Given the description of an element on the screen output the (x, y) to click on. 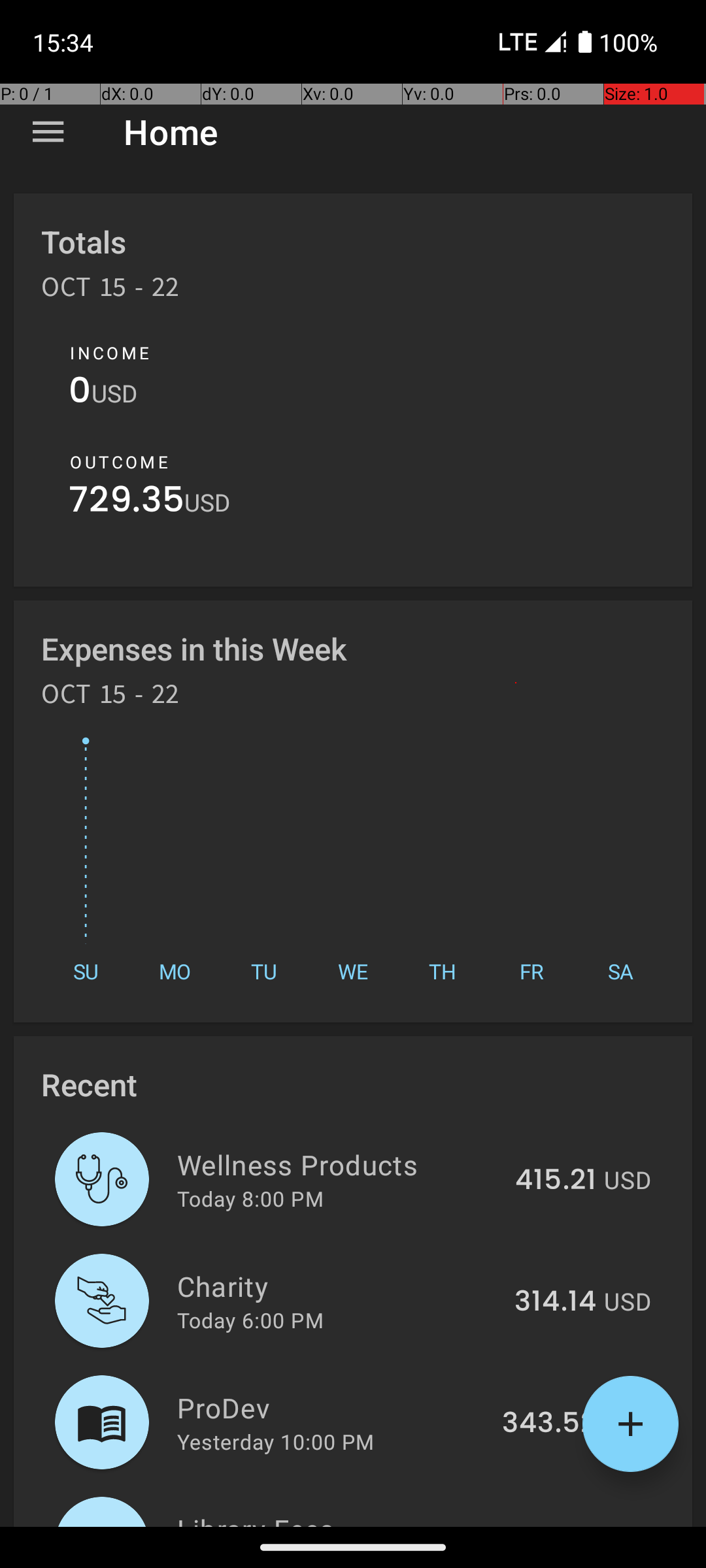
729.35 Element type: android.widget.TextView (126, 502)
Wellness Products Element type: android.widget.TextView (338, 1164)
415.21 Element type: android.widget.TextView (555, 1180)
Charity Element type: android.widget.TextView (338, 1285)
314.14 Element type: android.widget.TextView (554, 1301)
ProDev Element type: android.widget.TextView (331, 1407)
Yesterday 10:00 PM Element type: android.widget.TextView (275, 1441)
343.52 Element type: android.widget.TextView (548, 1423)
181.56 Element type: android.widget.TextView (554, 1524)
